Given the description of an element on the screen output the (x, y) to click on. 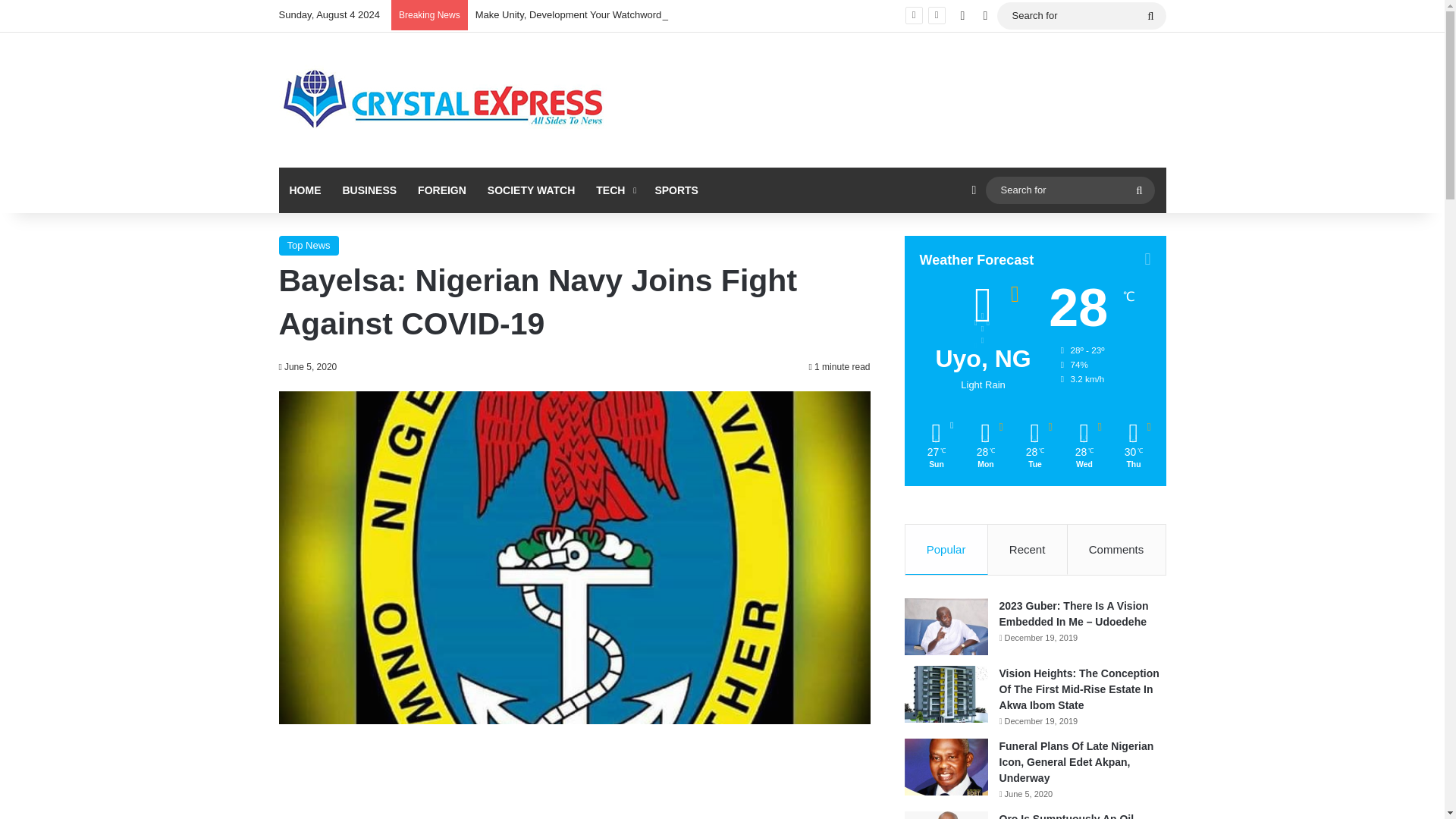
TECH (614, 189)
SPORTS (676, 189)
Search for (1069, 189)
Popular (946, 549)
Search for (1080, 15)
CrystalExpress (444, 100)
Top News (309, 245)
Search for (1150, 15)
Search for (1139, 189)
Recent (1027, 549)
Comments (1116, 549)
HOME (305, 189)
BUSINESS (369, 189)
SOCIETY WATCH (531, 189)
FOREIGN (442, 189)
